Given the description of an element on the screen output the (x, y) to click on. 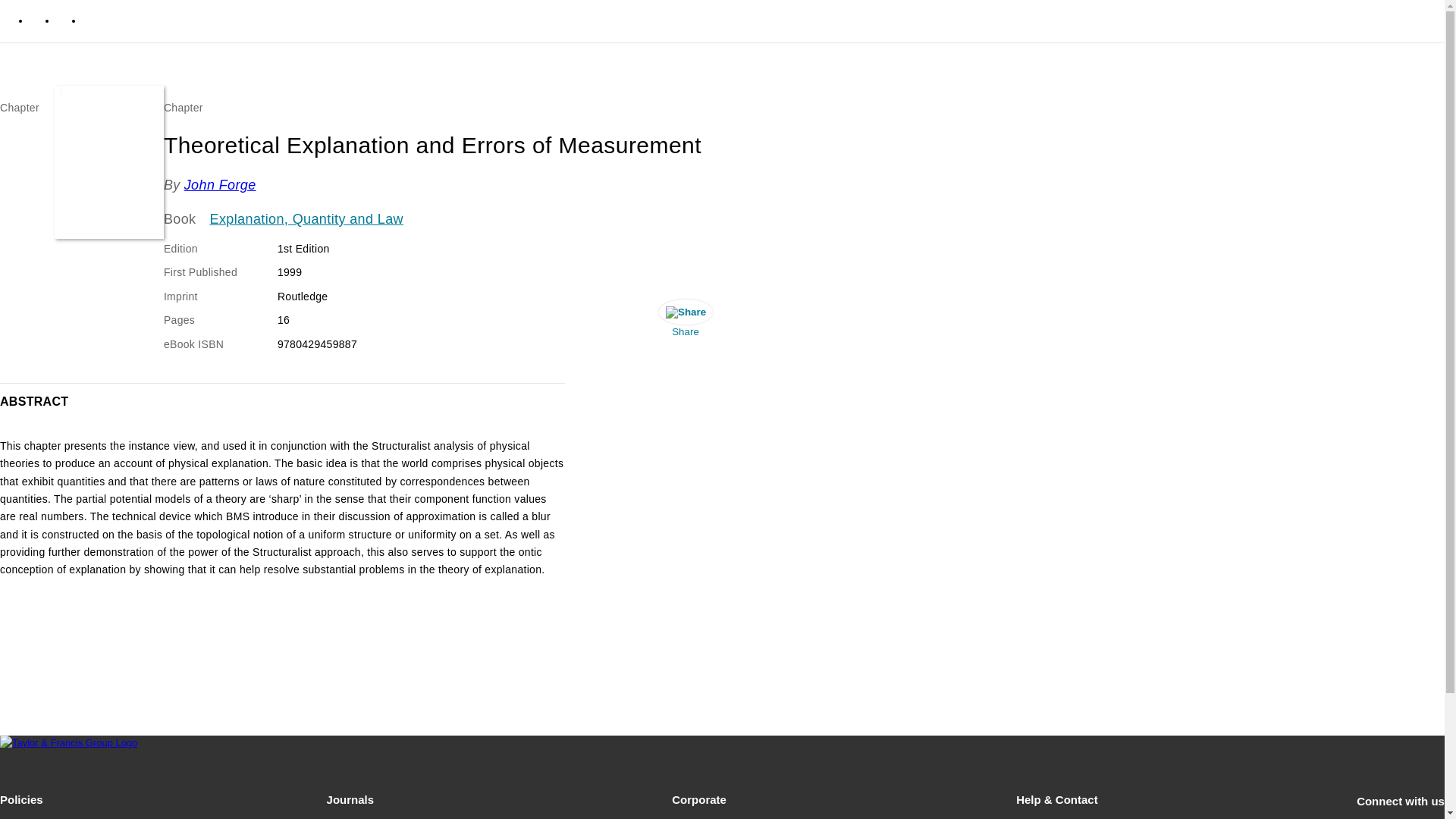
John Forge (220, 184)
Share (684, 321)
Explanation, Quantity and Law (306, 219)
